Given the description of an element on the screen output the (x, y) to click on. 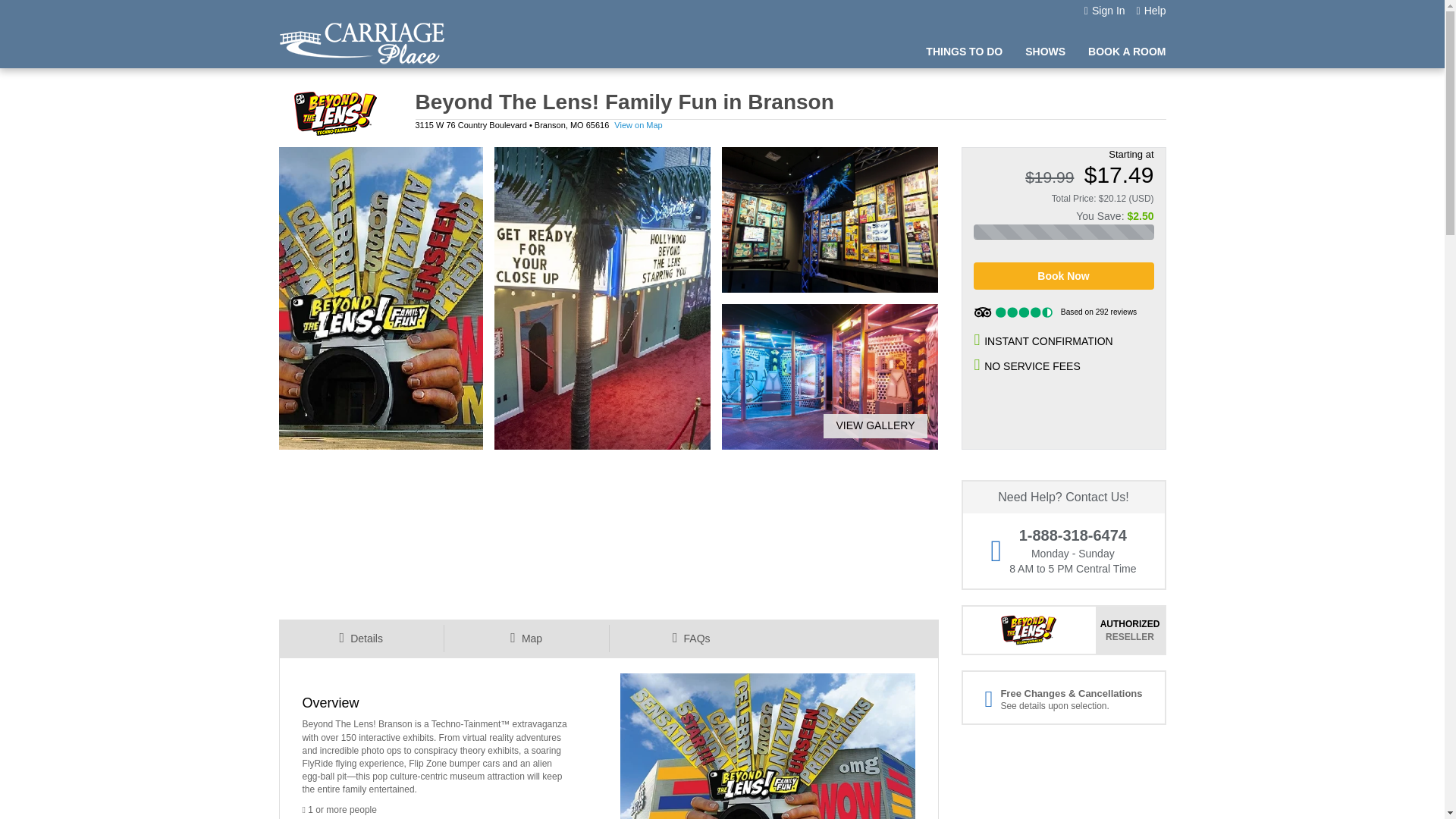
Help (1151, 11)
BOOK A ROOM (1126, 51)
Details (361, 637)
Sign In (1104, 11)
SHOWS (1045, 51)
View on Map (638, 124)
THINGS TO DO (964, 51)
VIEW GALLERY (869, 425)
Map (526, 637)
Book Now (1064, 275)
FAQs (690, 637)
